Given the description of an element on the screen output the (x, y) to click on. 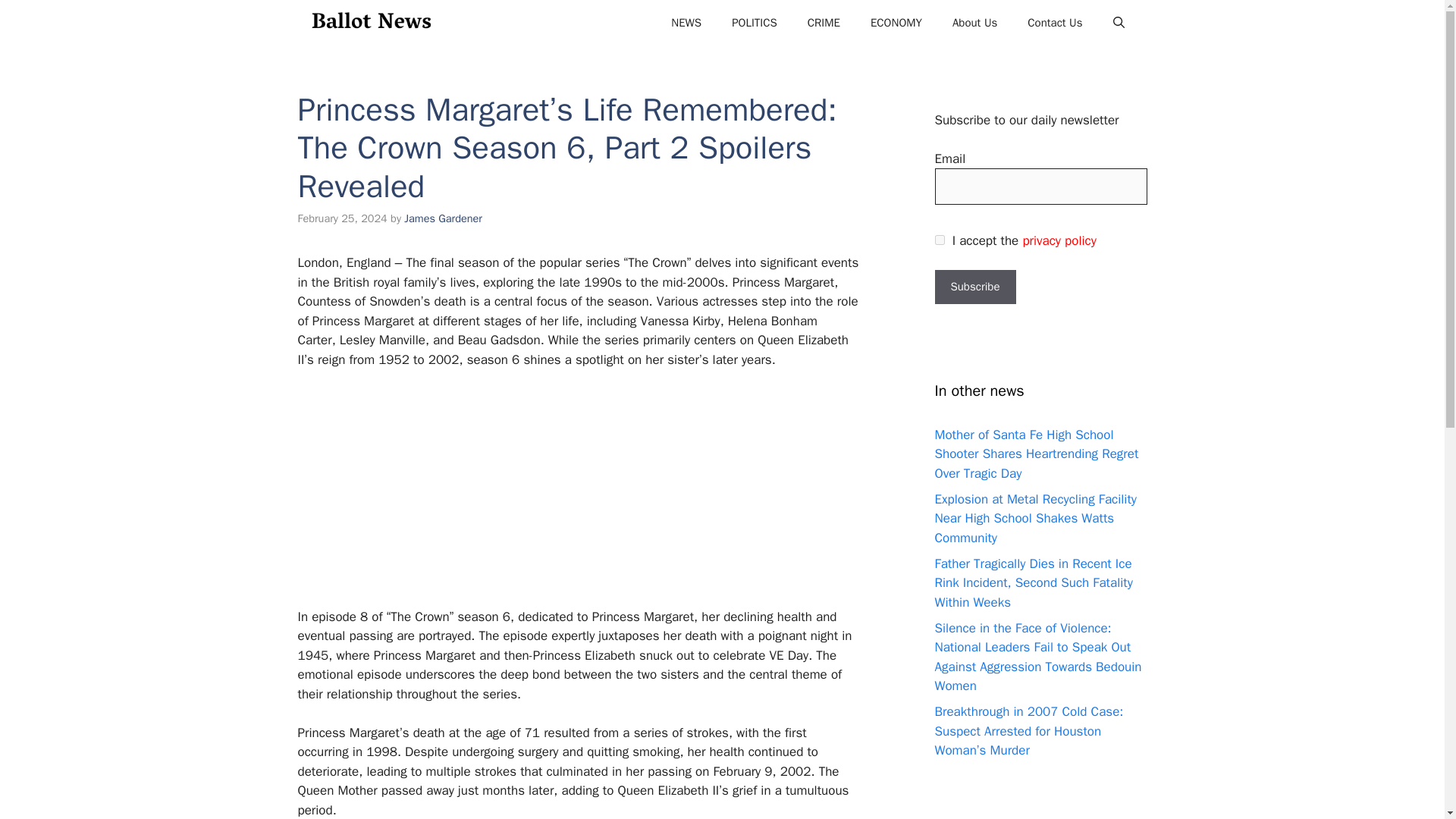
POLITICS (754, 22)
CRIME (824, 22)
NEWS (686, 22)
privacy policy (1059, 240)
Contact Us (1054, 22)
James Gardener (442, 218)
1 (938, 239)
View all posts by James Gardener (442, 218)
